Given the description of an element on the screen output the (x, y) to click on. 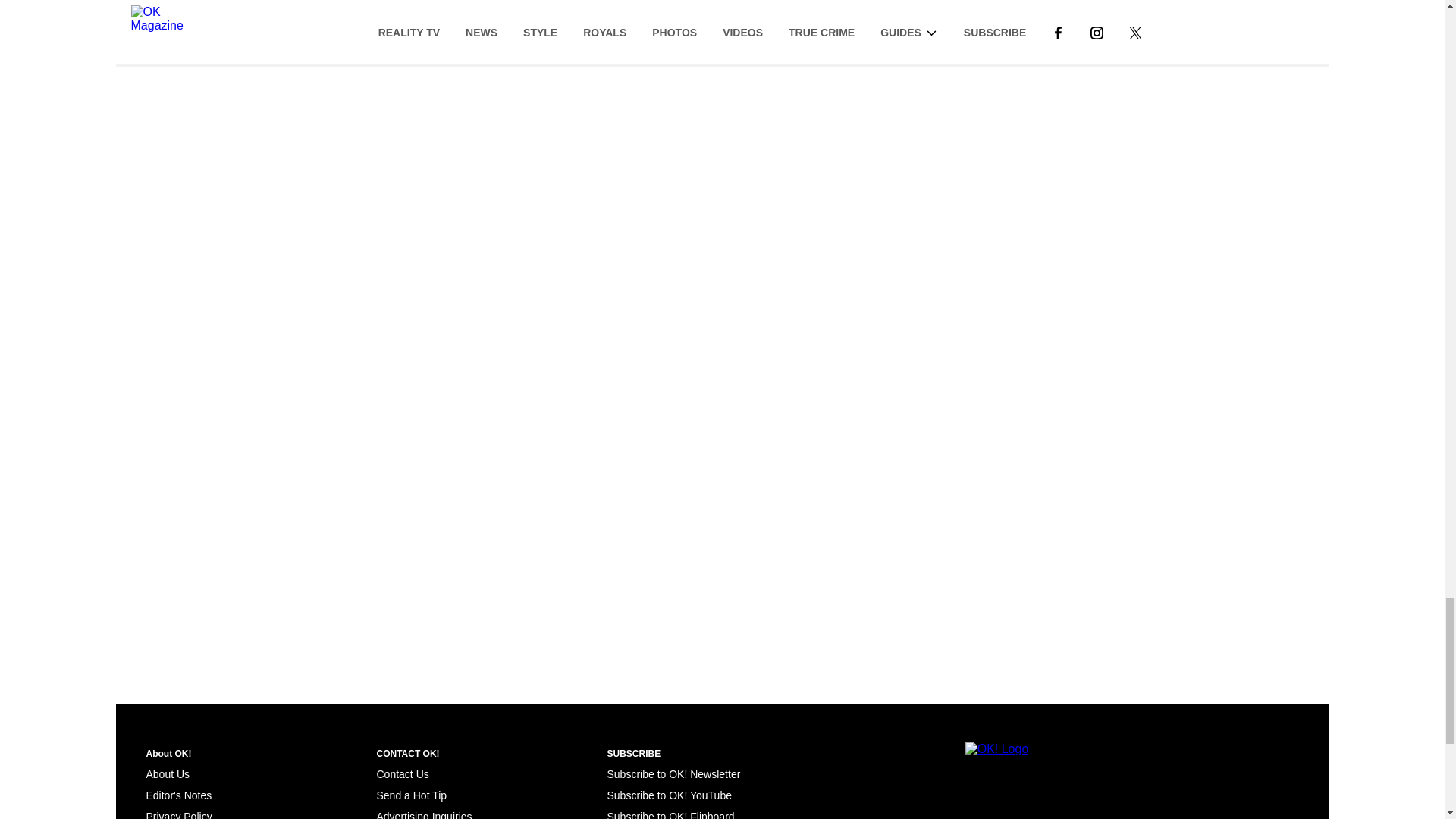
About Us (167, 774)
Contact Us (401, 774)
Send a Hot Tip (410, 795)
Privacy Policy (178, 814)
Editor's Notes (178, 795)
